Given the description of an element on the screen output the (x, y) to click on. 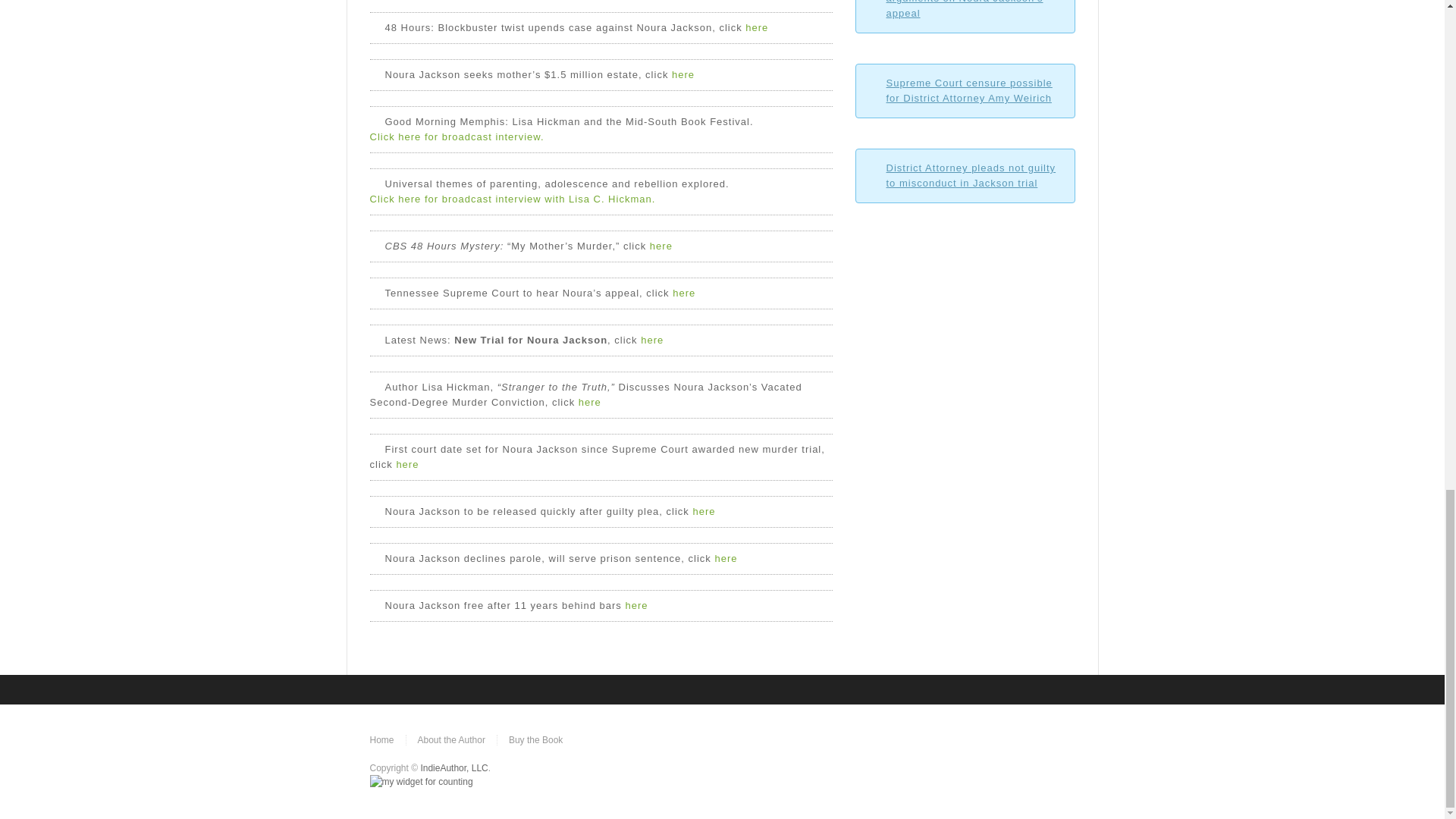
here (651, 339)
here (589, 401)
Buy the Book (535, 739)
here (725, 558)
Home (381, 739)
my widget for counting (421, 781)
About the Author (450, 739)
here (756, 27)
here (660, 245)
here (407, 464)
here (682, 74)
here (703, 511)
IndieAuthor, LLC (453, 767)
